Given the description of an element on the screen output the (x, y) to click on. 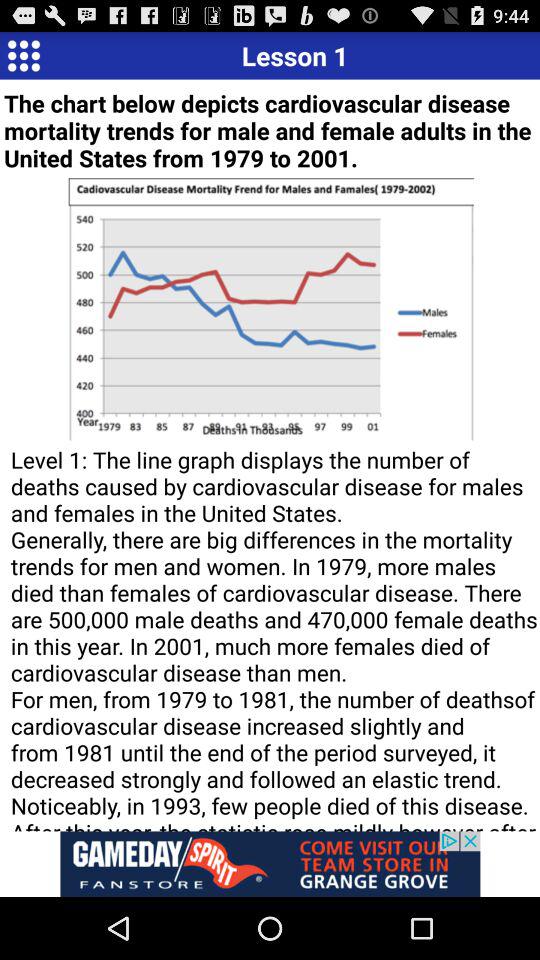
view advertiser (270, 864)
